Given the description of an element on the screen output the (x, y) to click on. 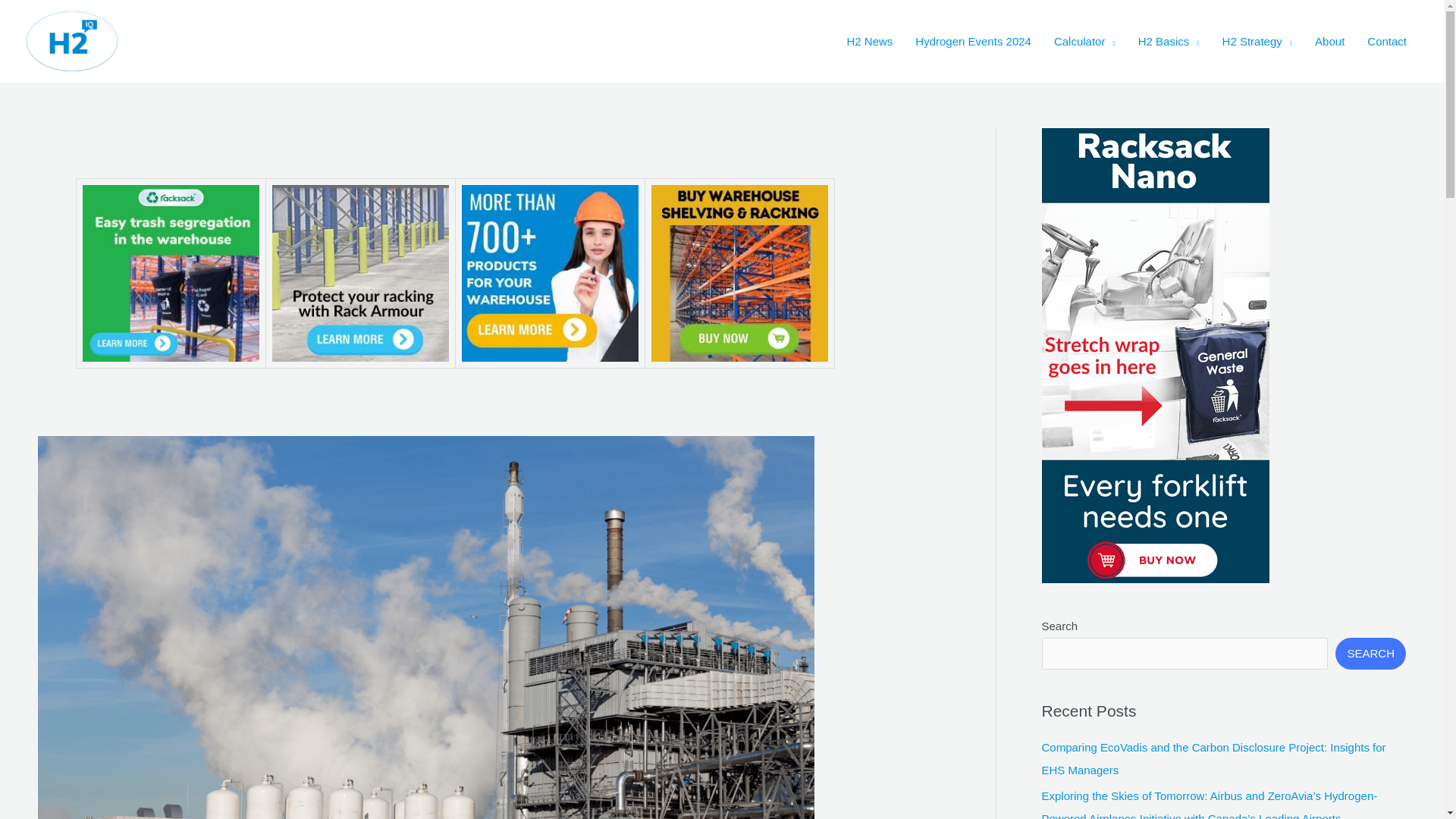
Contact (1386, 41)
H2 Strategy (1257, 41)
About (1329, 41)
H2 Basics (1168, 41)
Calculator (1084, 41)
Hydrogen Events 2024 (973, 41)
H2 News (869, 41)
